Given the description of an element on the screen output the (x, y) to click on. 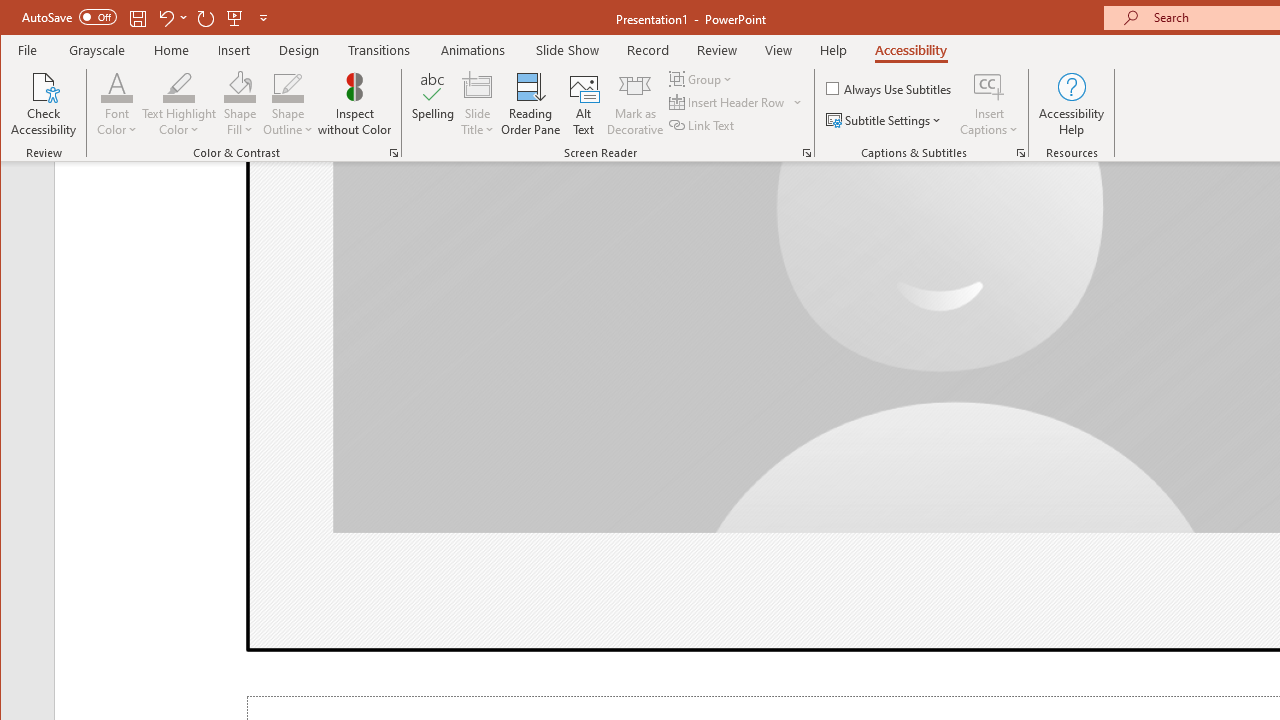
Screen Reader (806, 152)
Slide Title (477, 104)
Reading Order Pane (531, 104)
Subtitle Settings (885, 119)
Link Text (703, 124)
